Given the description of an element on the screen output the (x, y) to click on. 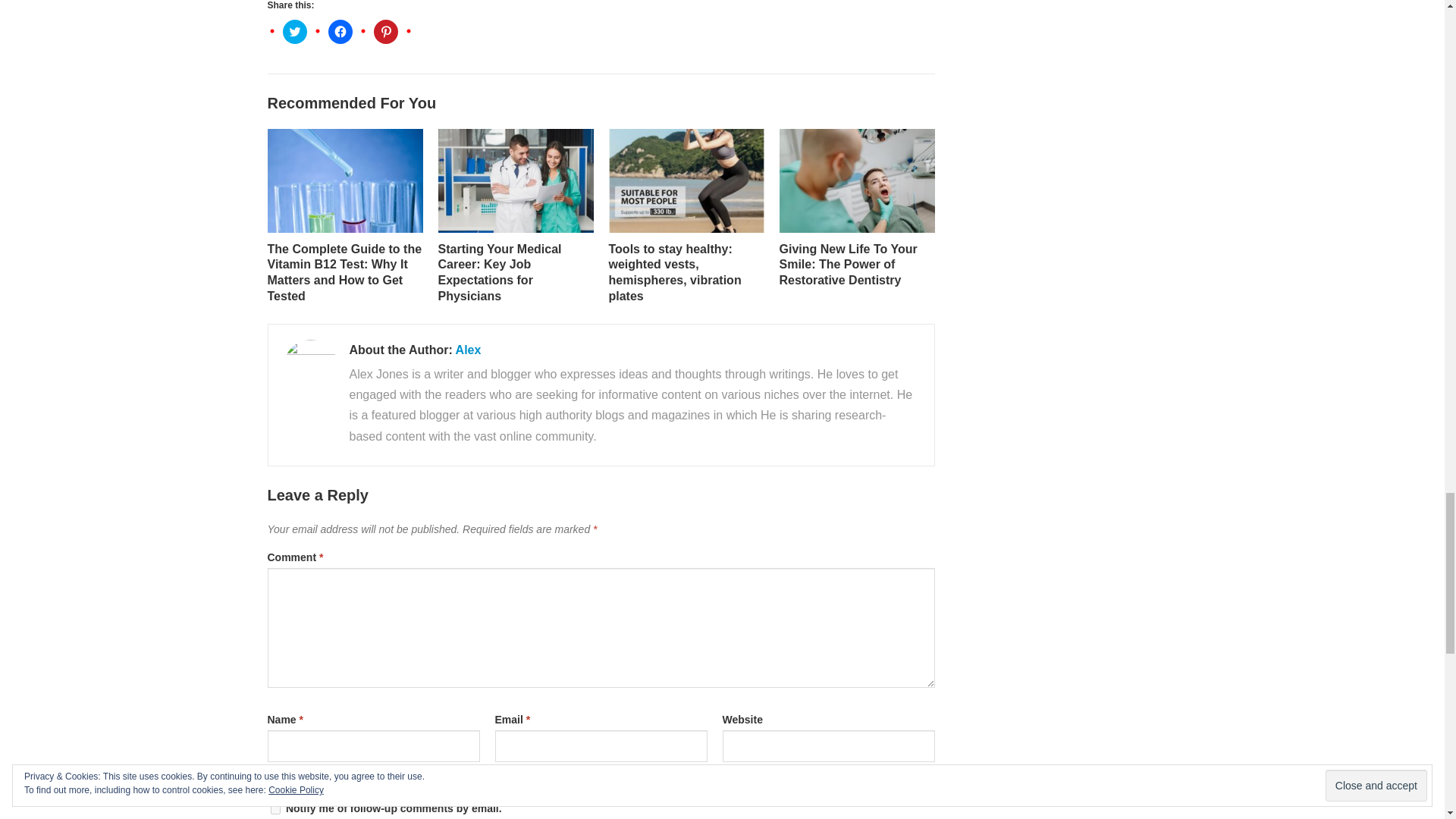
Click to share on Pinterest (384, 31)
Click to share on Facebook (339, 31)
Click to share on Twitter (293, 31)
subscribe (274, 809)
